Given the description of an element on the screen output the (x, y) to click on. 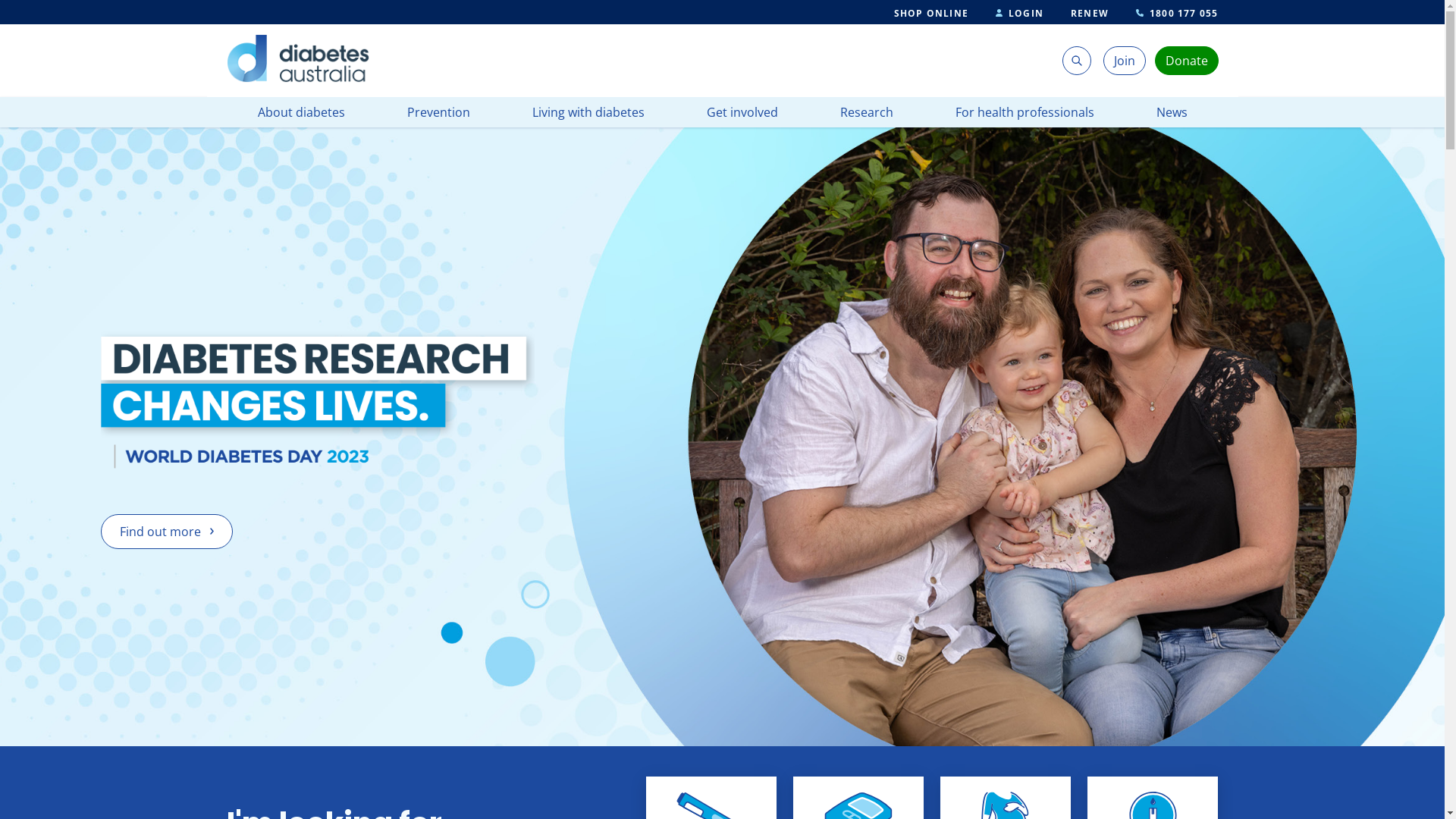
Get involved Element type: text (742, 112)
Find out more Element type: text (166, 531)
News Element type: text (1170, 112)
LOGIN Element type: text (1019, 12)
RENEW Element type: text (1089, 12)
For health professionals Element type: text (1024, 112)
Living with diabetes Element type: text (588, 112)
Prevention Element type: text (437, 112)
SHOP ONLINE Element type: text (931, 12)
1800 177 055 Element type: text (1176, 12)
About diabetes Element type: text (301, 112)
Research Element type: text (866, 112)
Donate Element type: text (1186, 60)
Join Element type: text (1124, 60)
